Given the description of an element on the screen output the (x, y) to click on. 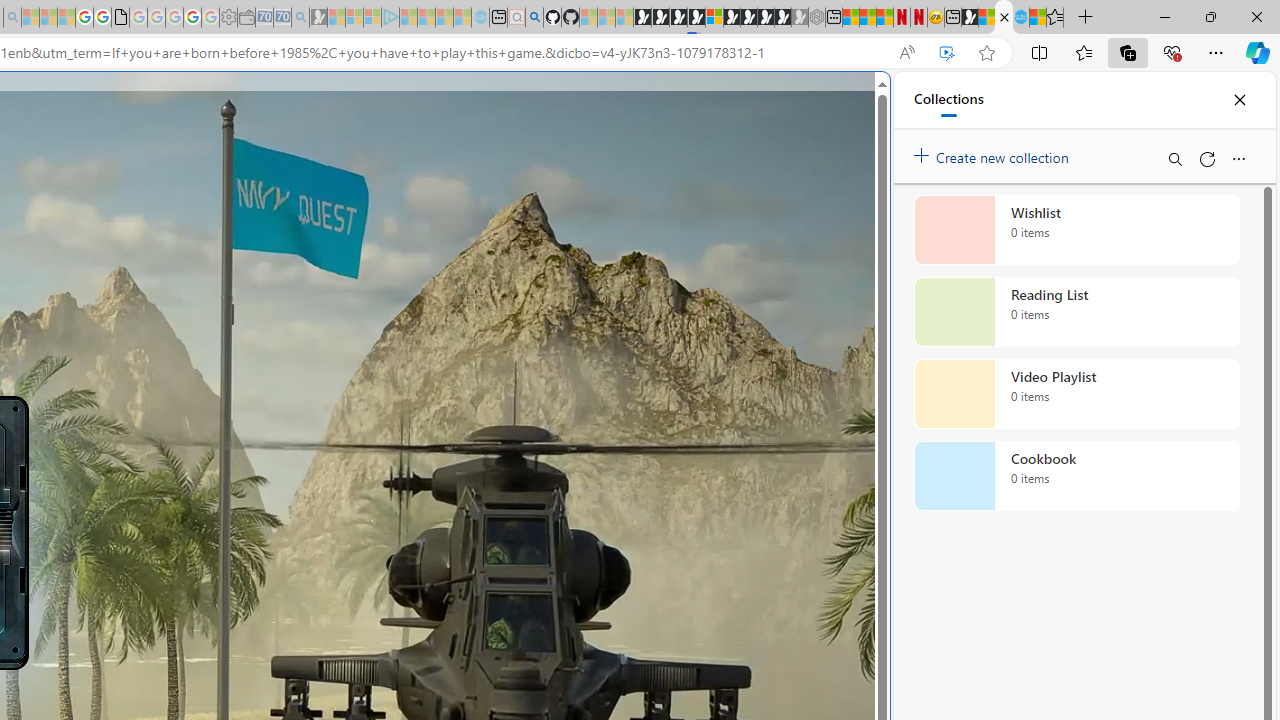
Frequently visited (418, 265)
Wishlist collection, 0 items (1076, 229)
Video Playlist collection, 0 items (1076, 394)
